Given the description of an element on the screen output the (x, y) to click on. 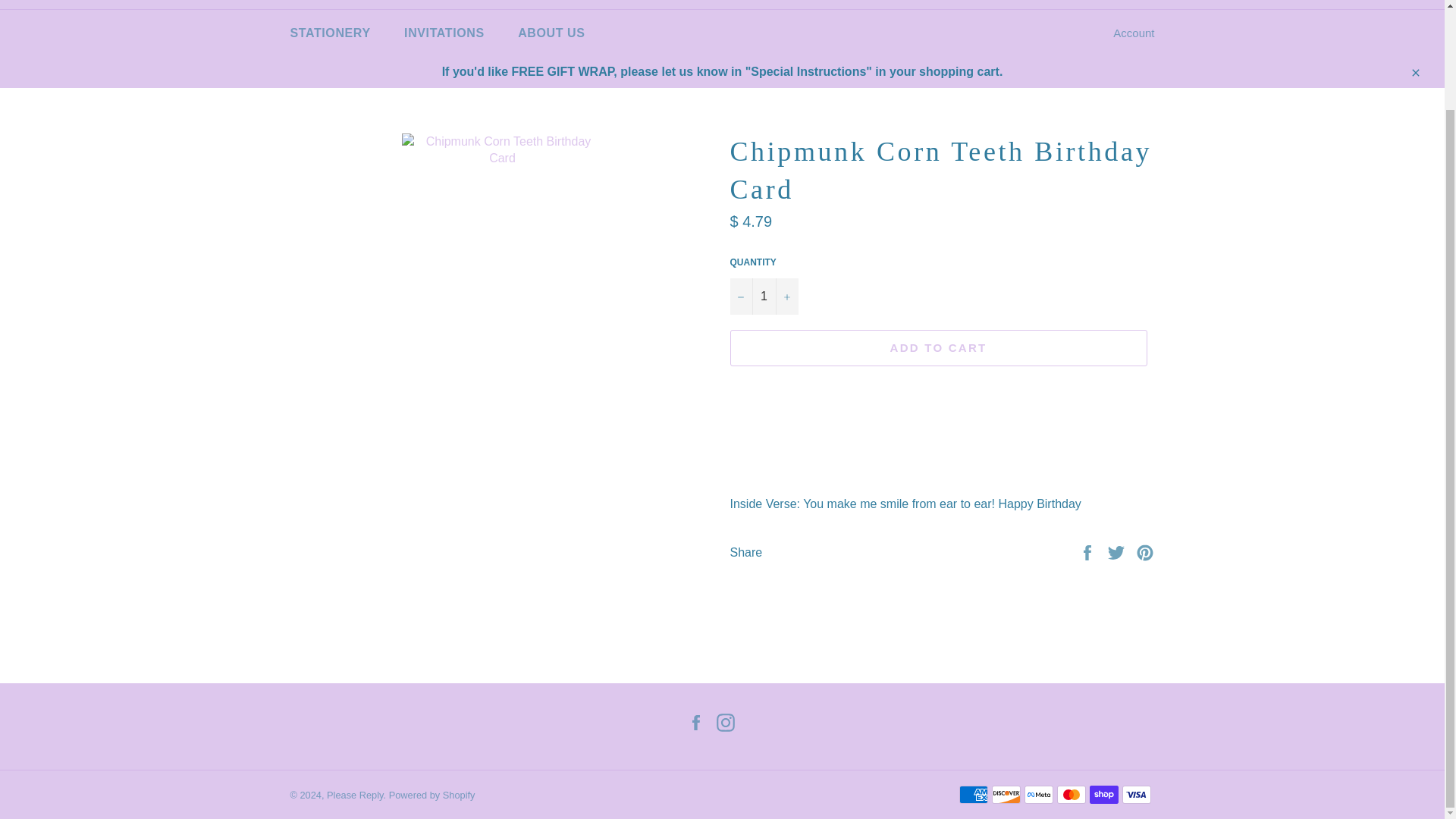
Share on Facebook (1088, 552)
Please Reply on Instagram (729, 722)
Instagram (729, 722)
STATIONERY (330, 32)
INVITATIONS (443, 32)
Tweet on Twitter (1117, 552)
Pin on Pinterest (1144, 552)
Pin on Pinterest (1144, 552)
Tweet on Twitter (1117, 552)
Close (1414, 71)
